Given the description of an element on the screen output the (x, y) to click on. 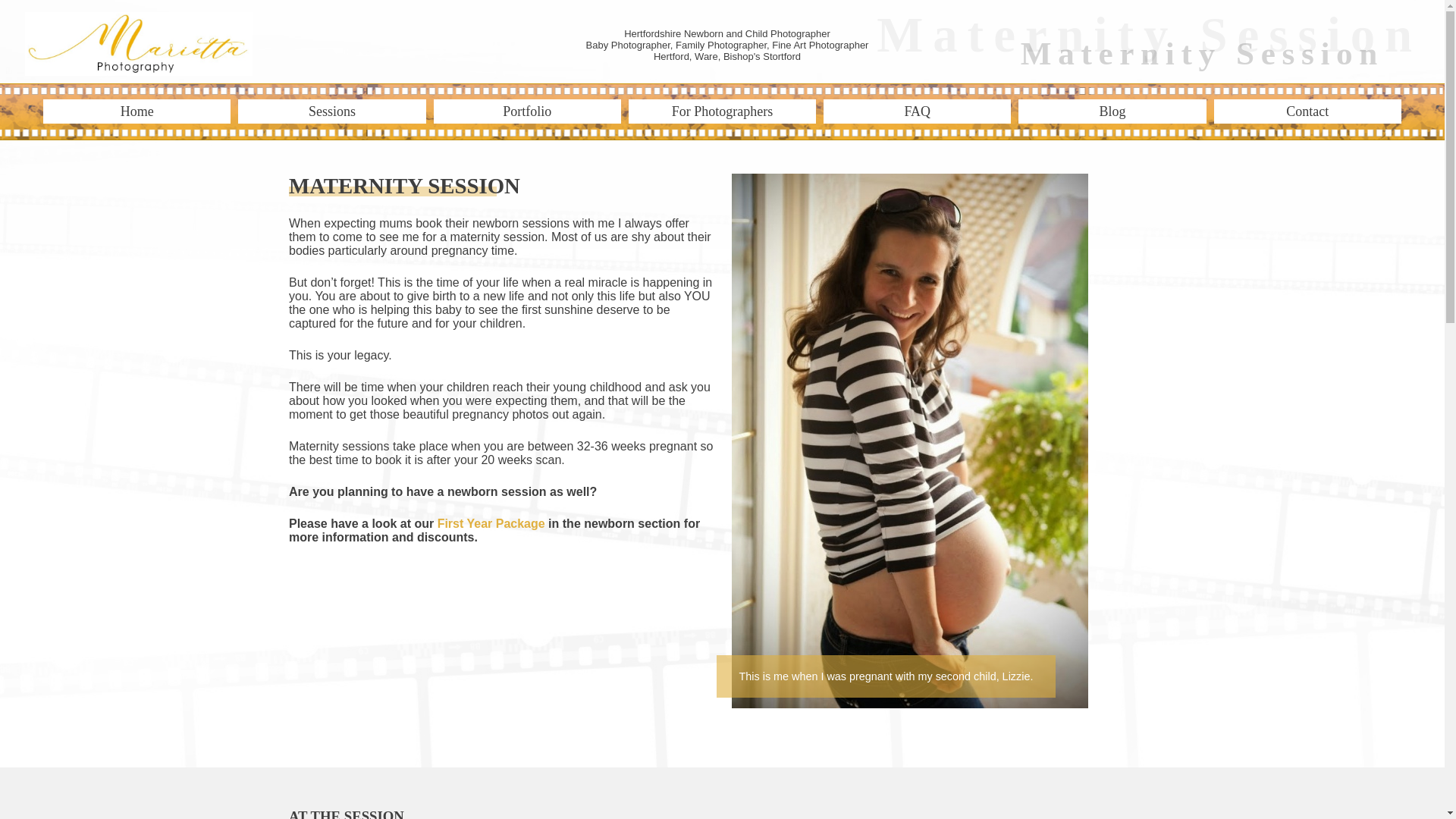
First Year Package (491, 522)
Contact (1307, 110)
Home (136, 110)
Portfolio (527, 110)
Sessions (331, 110)
FAQ (917, 110)
For Photographers (721, 110)
Blog (1111, 110)
